Given the description of an element on the screen output the (x, y) to click on. 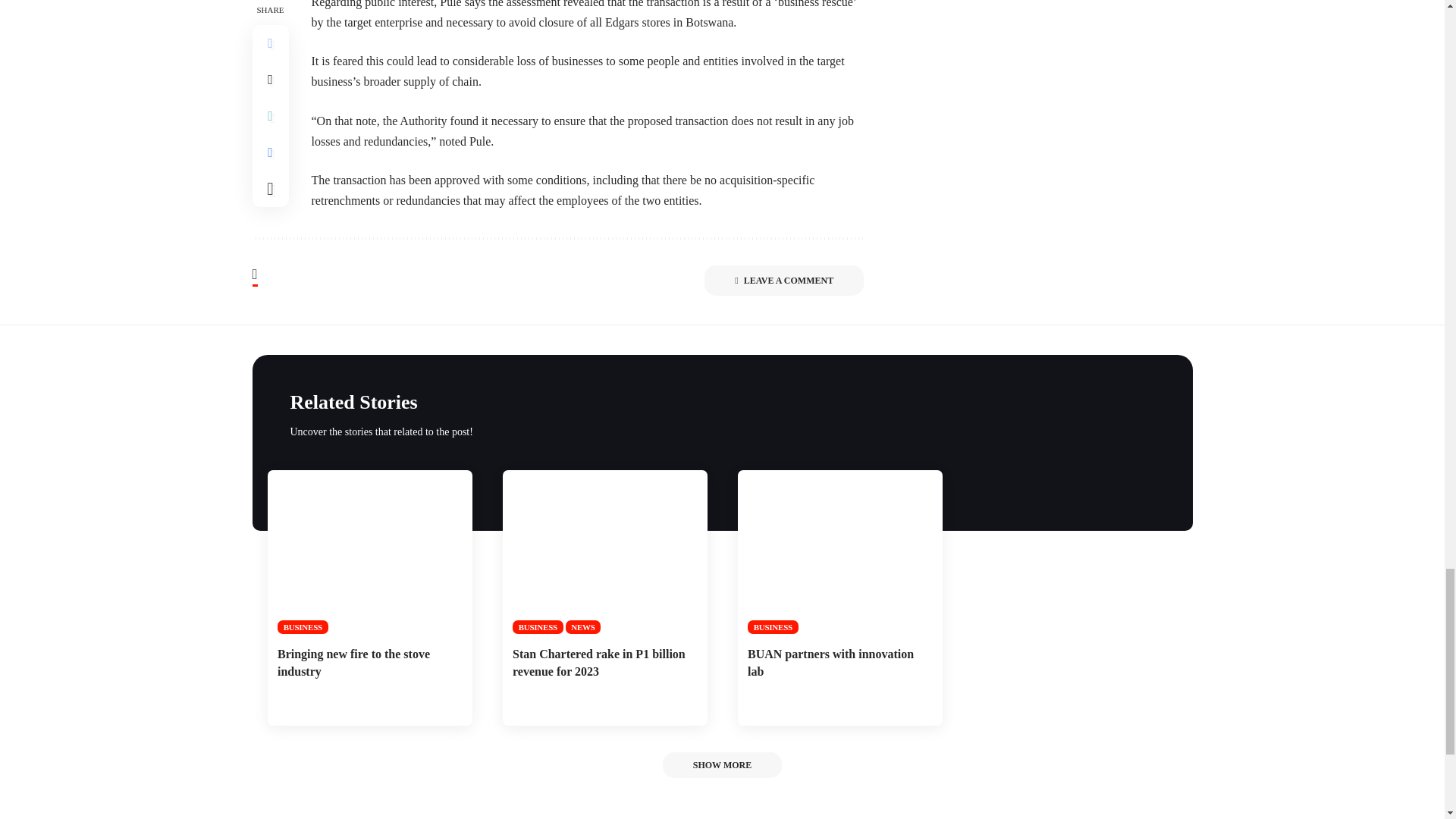
Stan Chartered rake in P1 billion revenue for 2023 (604, 551)
BUAN partners with innovation lab (839, 551)
Bringing new fire to the stove industry (368, 551)
